Given the description of an element on the screen output the (x, y) to click on. 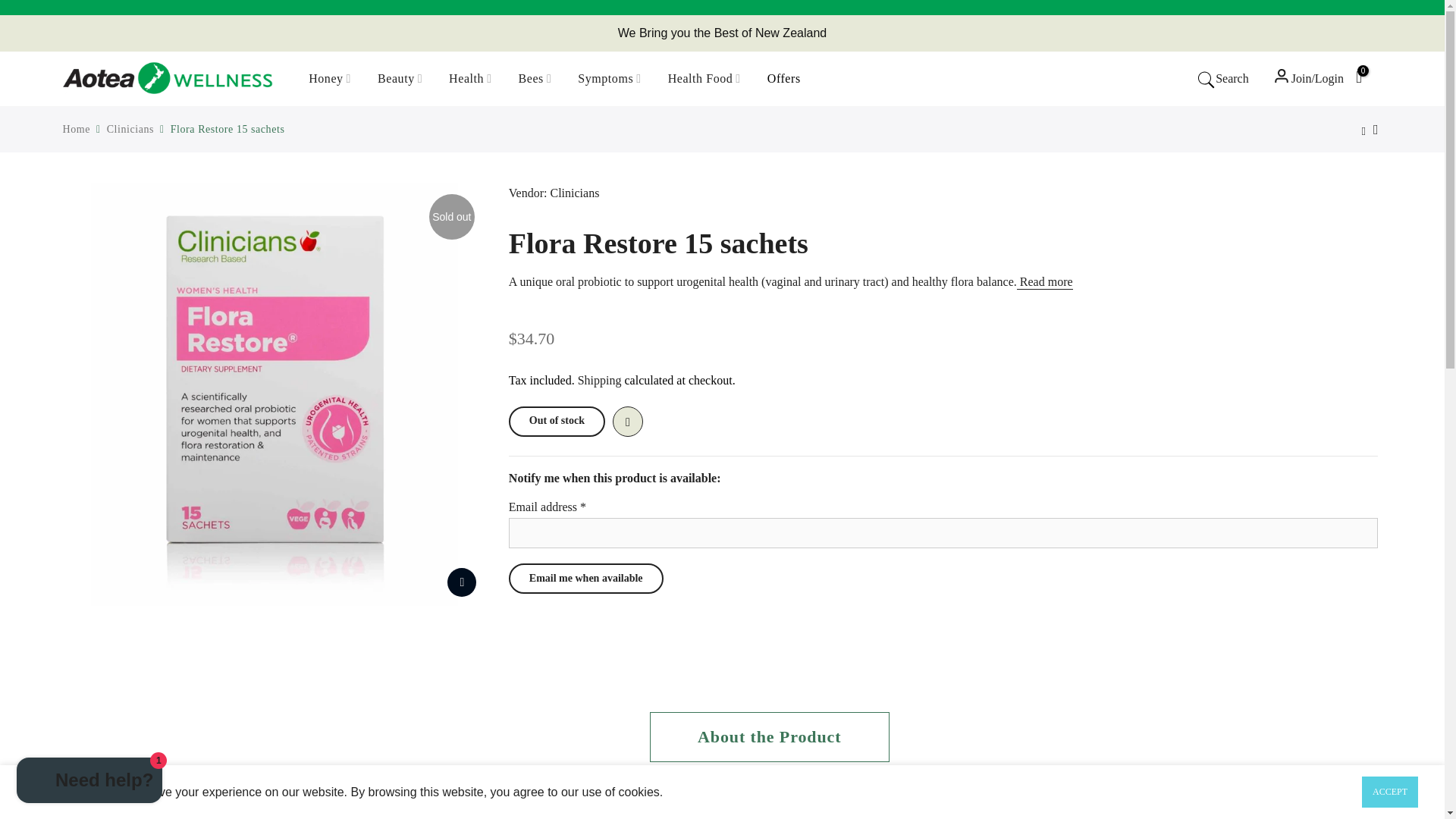
Bees (534, 78)
Shopify online store chat (89, 781)
Health (470, 78)
Search (1223, 78)
Email me when available (585, 578)
Symptoms (608, 78)
Clinicians (574, 192)
Honey (330, 78)
Beauty (400, 78)
Health Food (703, 78)
Offers (783, 78)
